Given the description of an element on the screen output the (x, y) to click on. 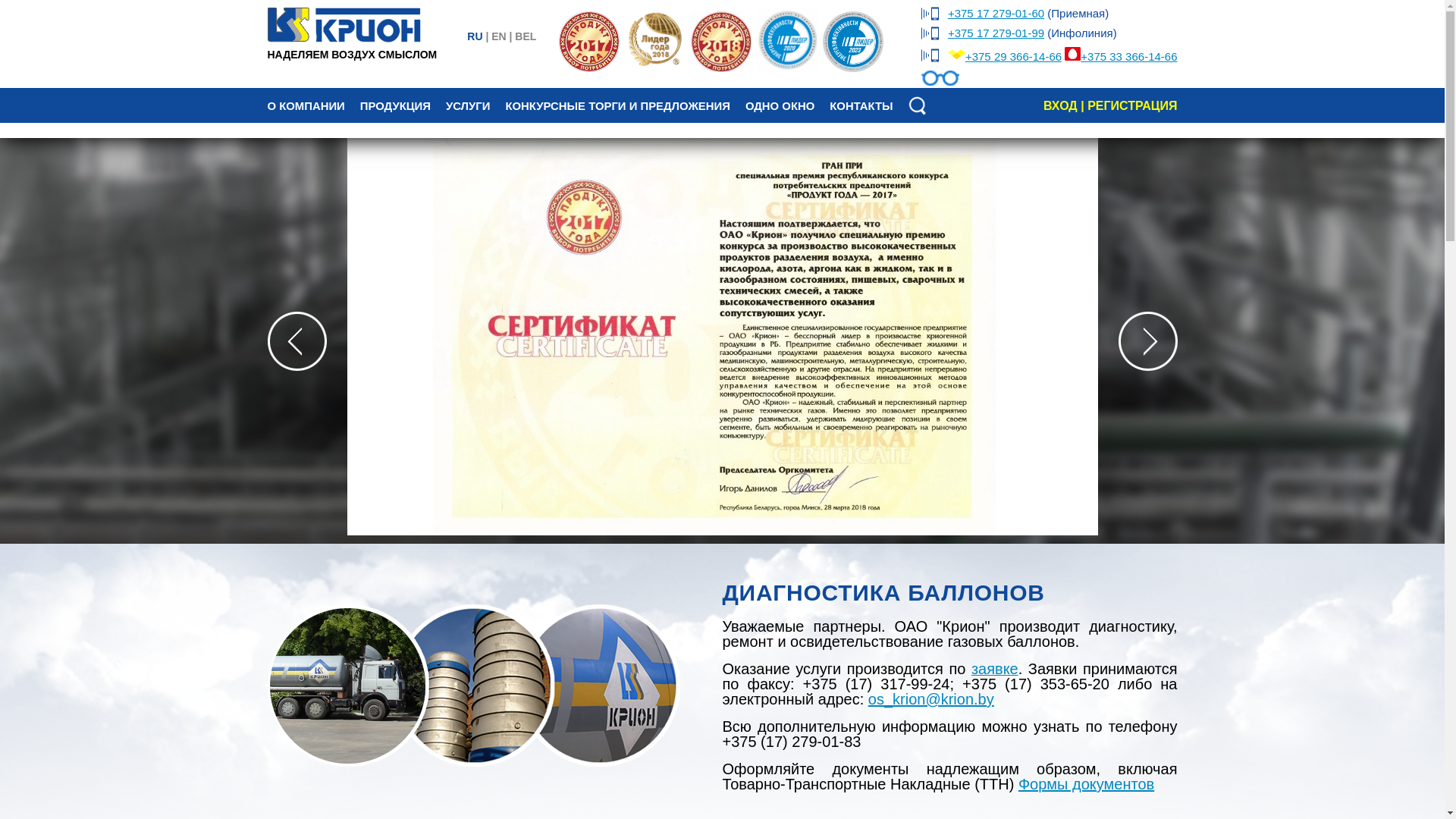
BEL Element type: text (525, 36)
Next Element type: text (1146, 340)
RU Element type: text (474, 36)
+375 17 279-01-60 Element type: text (995, 12)
+375 33 366-14-66 Element type: text (1128, 56)
+375 17 279-01-99 Element type: text (995, 32)
os_krion@krion.by Element type: text (931, 698)
+375 29 366-14-66 Element type: text (1013, 56)
EN Element type: text (498, 36)
Prev Element type: text (296, 340)
